Given the description of an element on the screen output the (x, y) to click on. 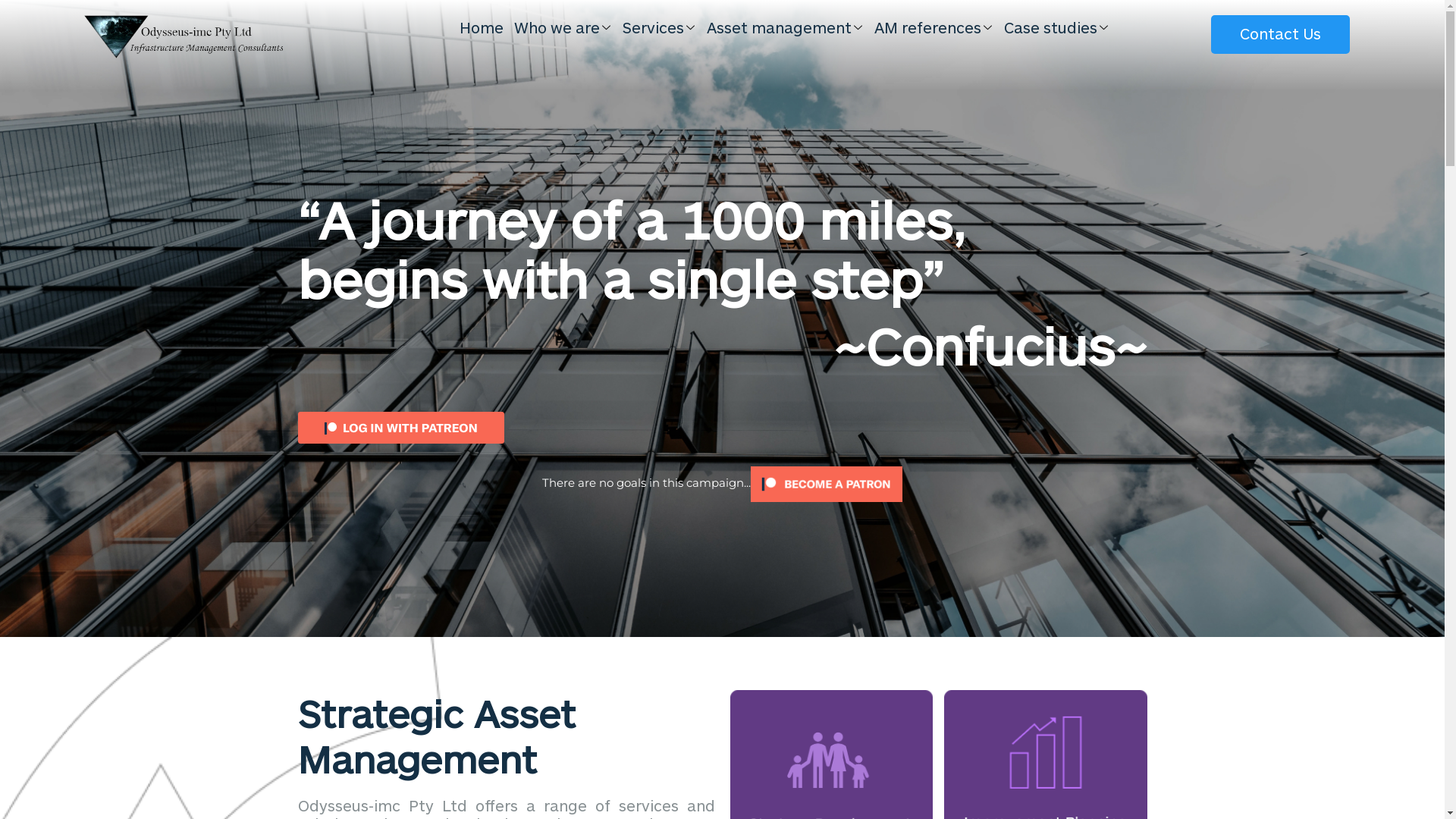
Contact Us Element type: text (1280, 34)
